Given the description of an element on the screen output the (x, y) to click on. 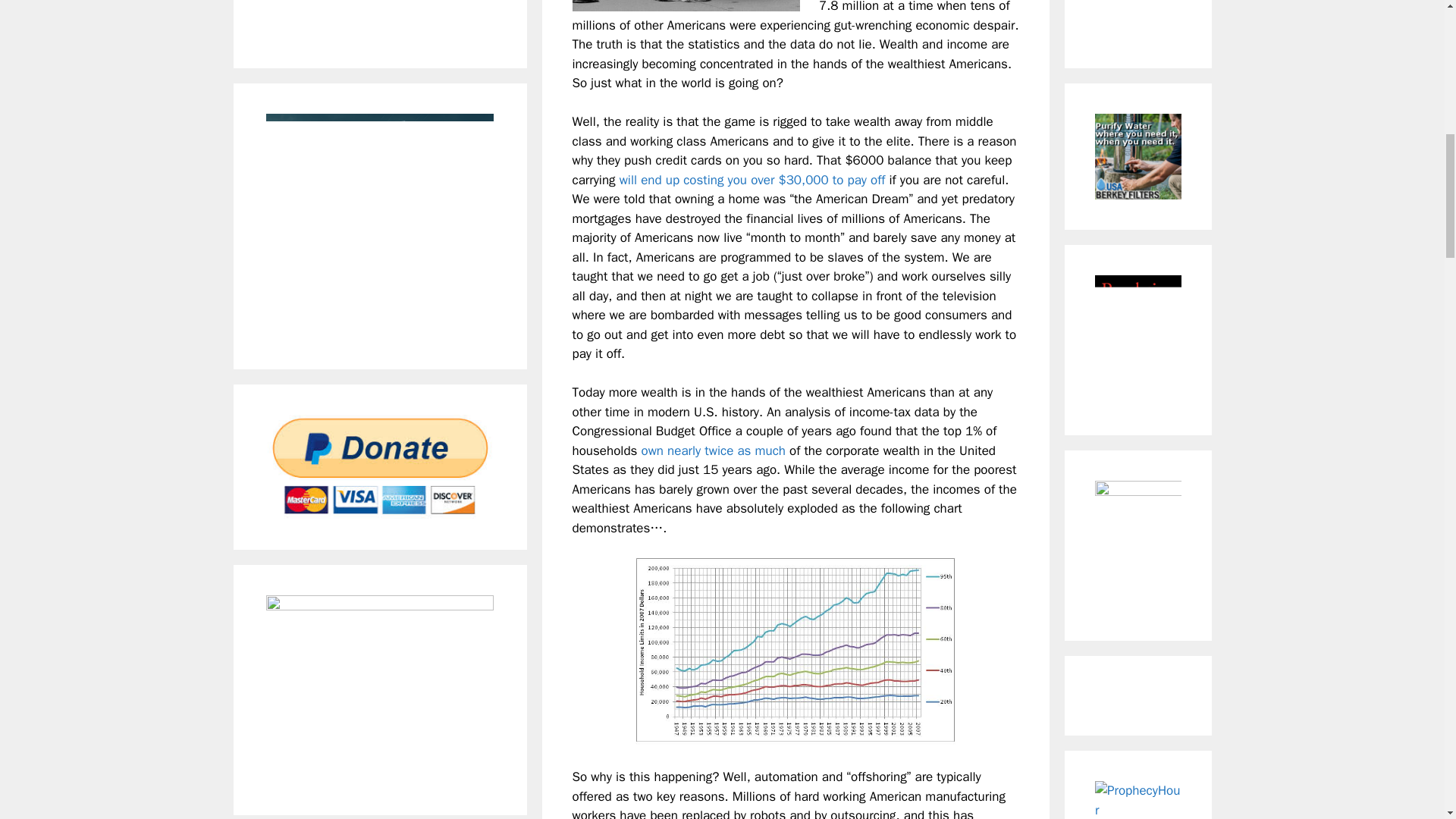
own nearly twice as much (712, 450)
Rich Getting Richer (794, 652)
The Rich Get Richer Income Inequality (685, 5)
